Given the description of an element on the screen output the (x, y) to click on. 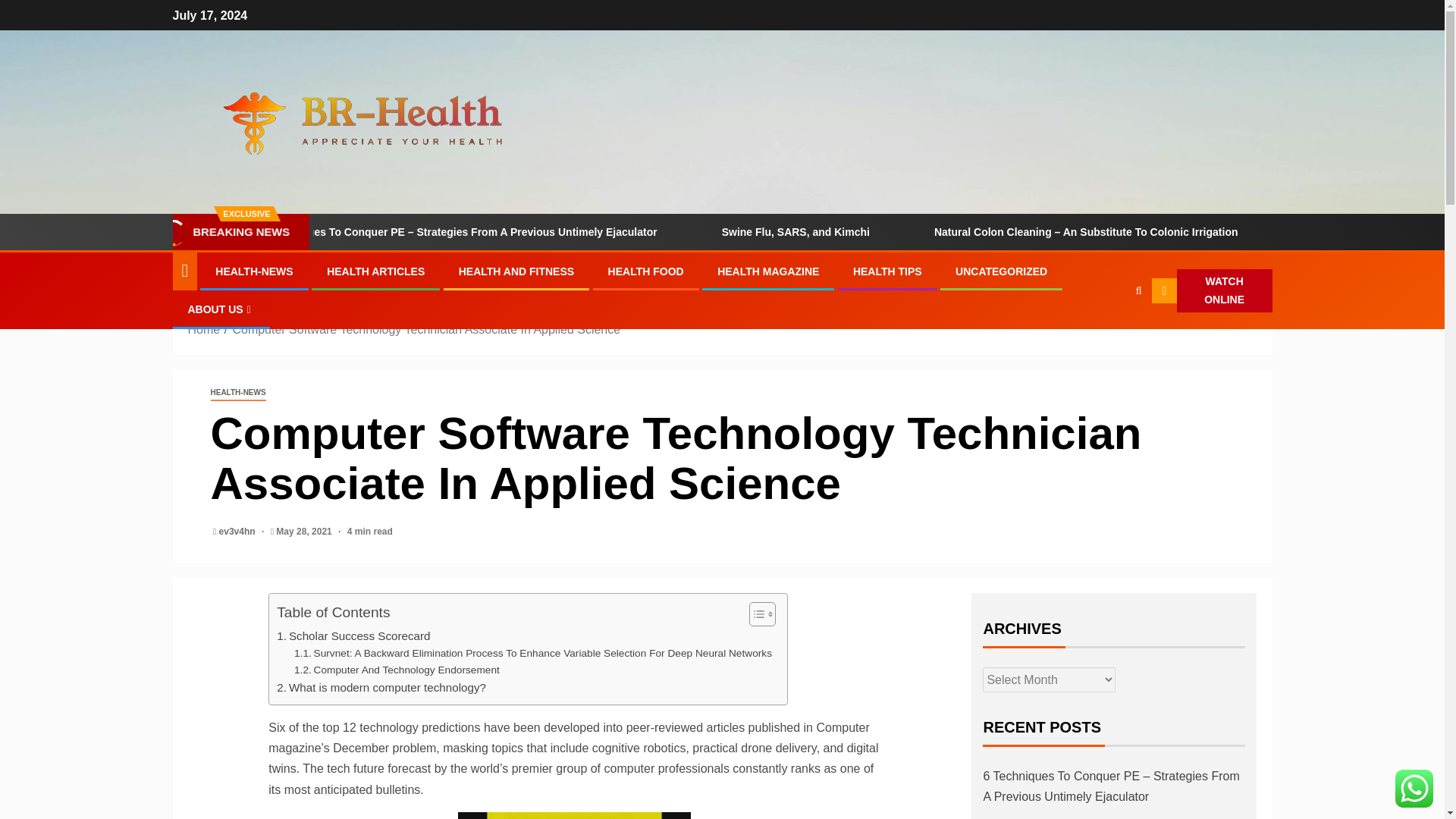
ev3v4hn (238, 531)
UNCATEGORIZED (1000, 271)
HEALTH AND FITNESS (515, 271)
Swine Flu, SARS, and Kimchi (879, 232)
WATCH ONLINE (1211, 290)
What is modern computer technology? (381, 687)
HEALTH FOOD (646, 271)
HEALTH-NEWS (238, 392)
HEALTH TIPS (887, 271)
What is modern computer technology? (381, 687)
Search (1138, 290)
Computer And Technology Endorsement (396, 669)
HEALTH-NEWS (253, 271)
